Given the description of an element on the screen output the (x, y) to click on. 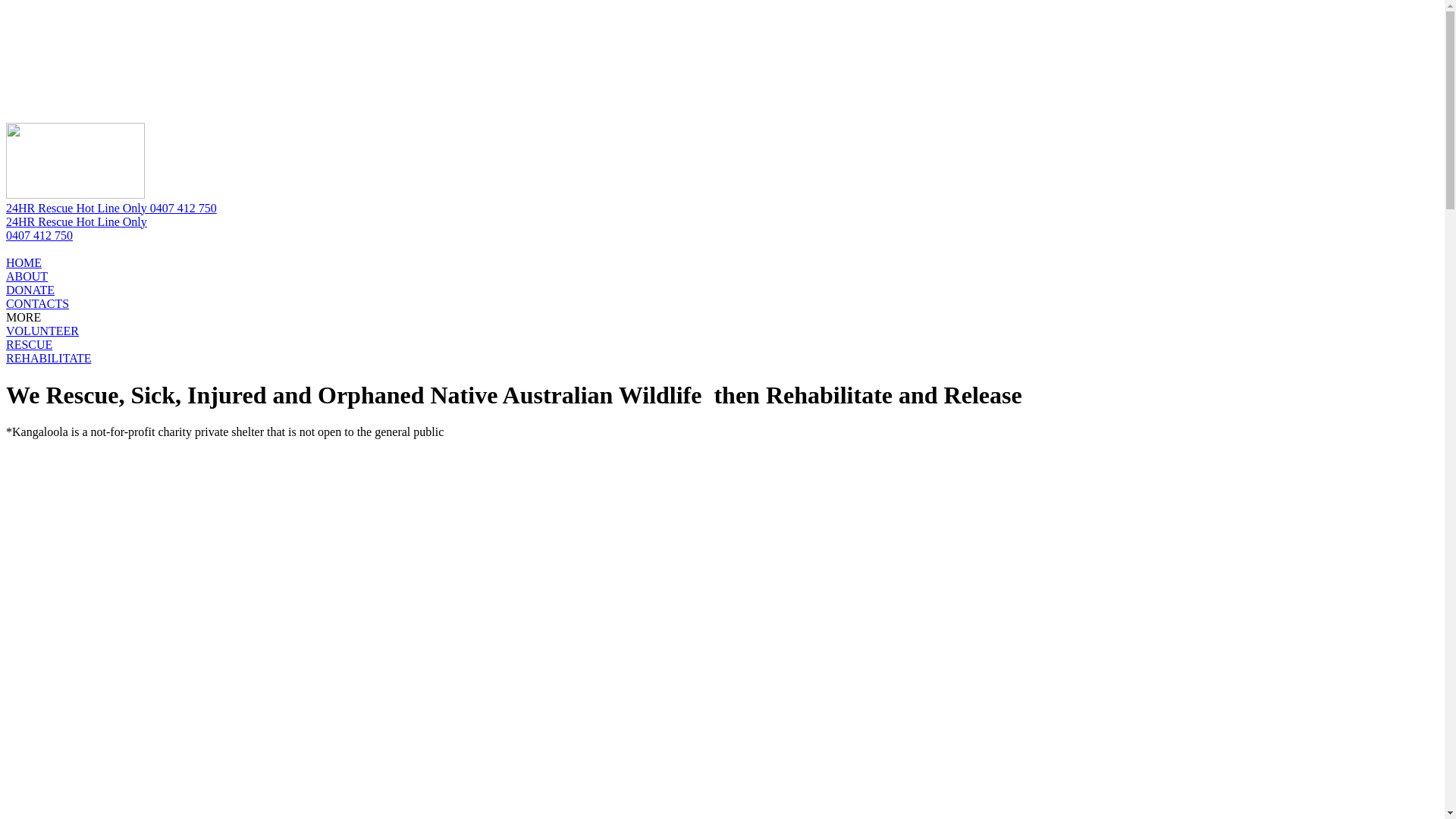
HOME Element type: text (23, 262)
24HR Rescue Hot Line Only
0407 412 750 Element type: text (722, 228)
ABOUT Element type: text (26, 275)
REHABILITATE Element type: text (48, 357)
RESCUE Element type: text (29, 344)
Submit Element type: text (161, 87)
VOLUNTEER Element type: text (42, 330)
CONTACTS Element type: text (37, 303)
24HR Rescue Hot Line Only 0407 412 750 Element type: text (111, 207)
DONATE Element type: text (30, 289)
